Given the description of an element on the screen output the (x, y) to click on. 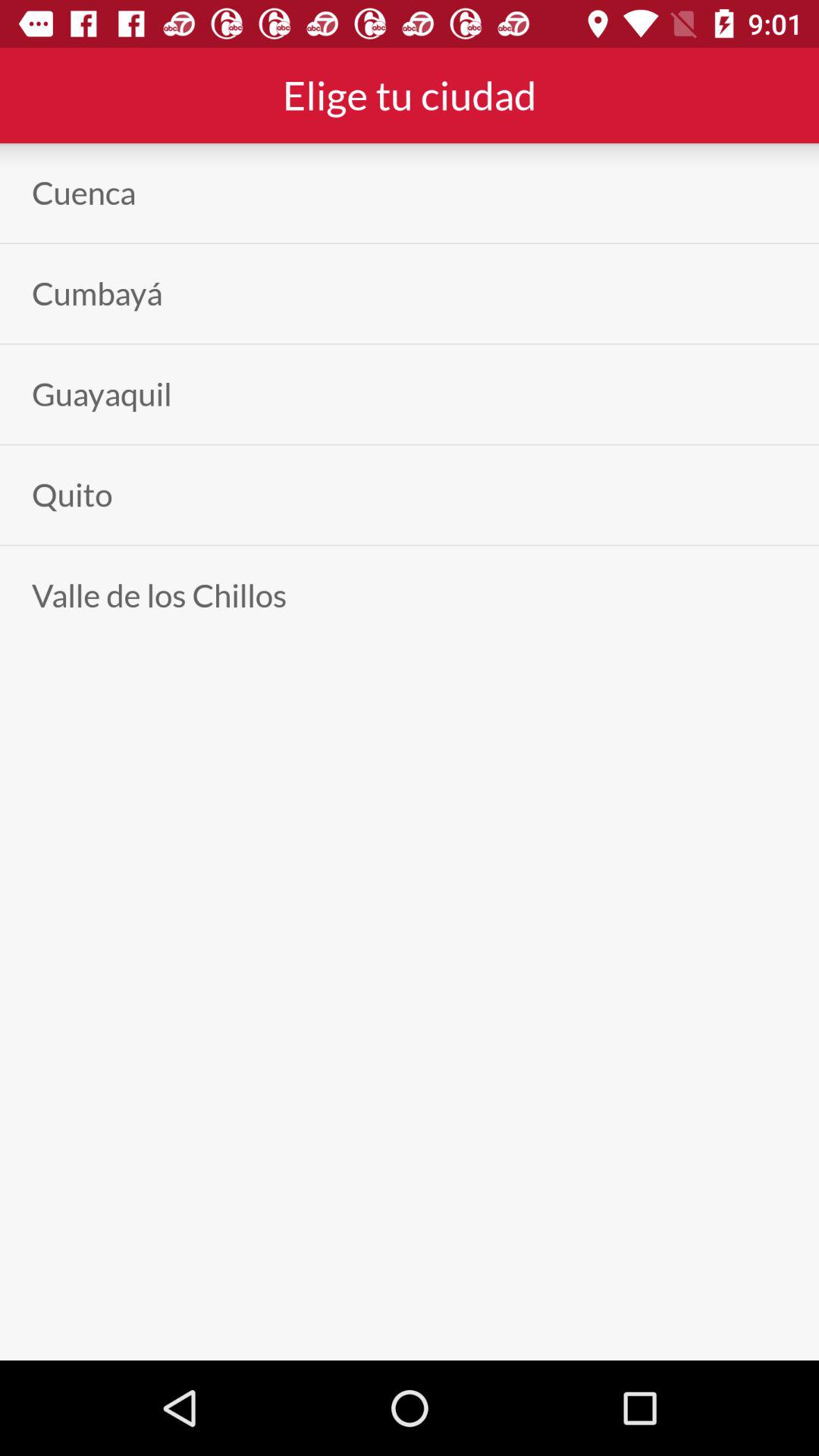
launch icon below the quito (158, 595)
